Given the description of an element on the screen output the (x, y) to click on. 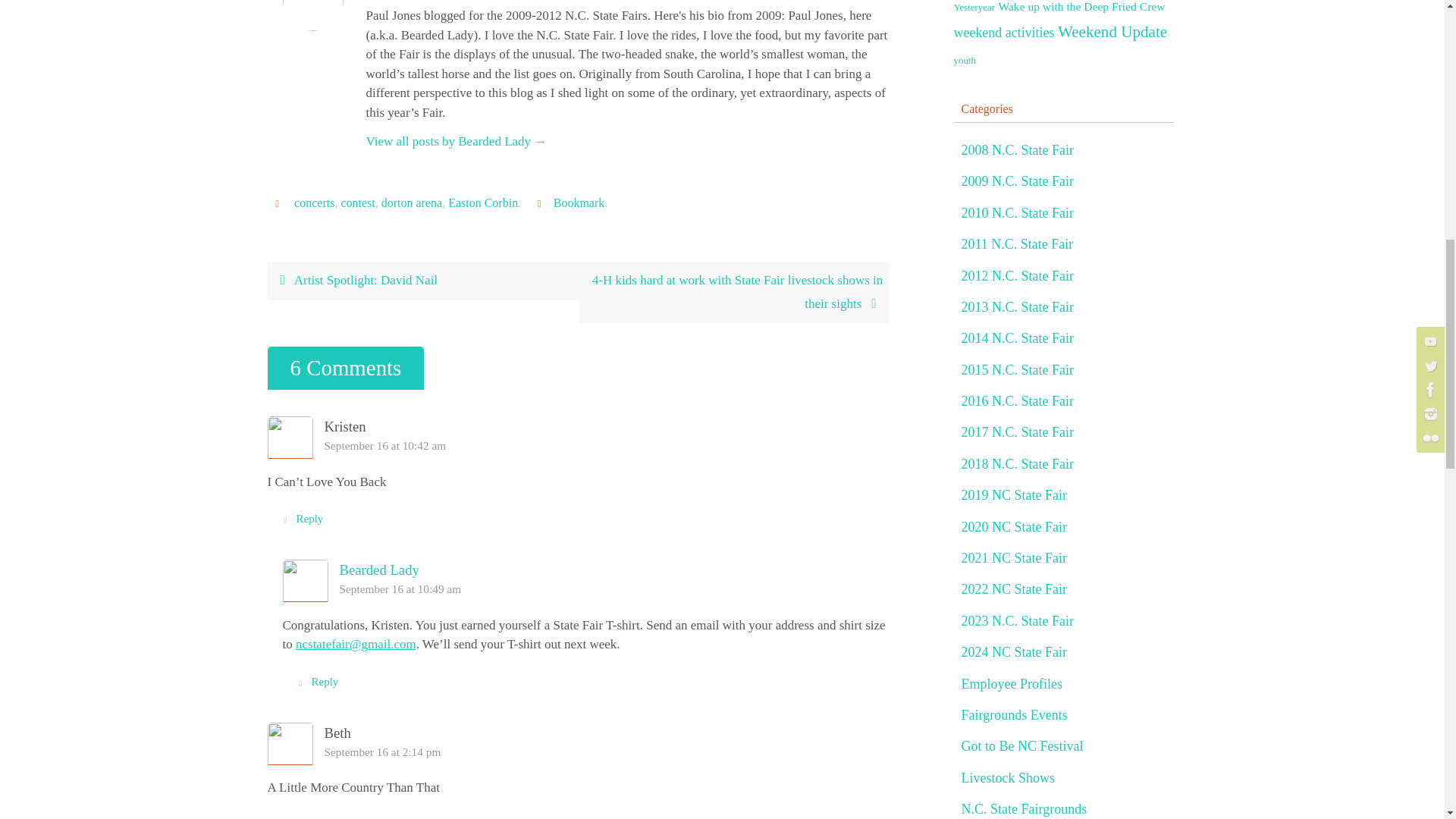
Bookmark (579, 202)
September 16 at 10:42 am (385, 445)
September 16 at 2:14 pm (382, 751)
September 16 at 10:49 am (400, 588)
Reply (316, 681)
Bearded Lady (379, 569)
Easton Corbin (483, 202)
Reply (300, 814)
Reply (300, 518)
dorton arena (411, 202)
